Given the description of an element on the screen output the (x, y) to click on. 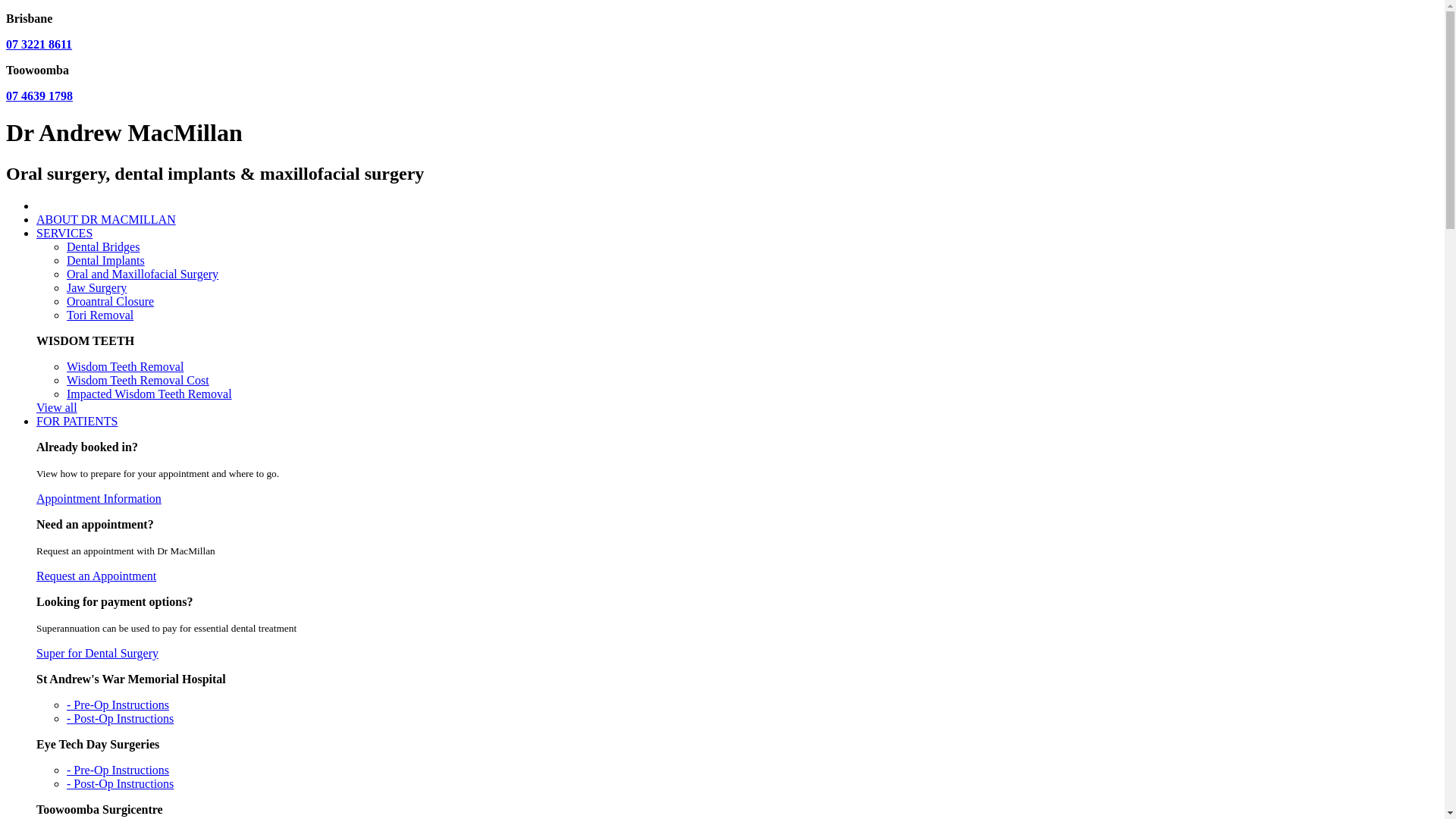
Oral and Maxillofacial Surgery Element type: text (142, 273)
Impacted Wisdom Teeth Removal Element type: text (149, 393)
Super for Dental Surgery Element type: text (97, 652)
FOR PATIENTS Element type: text (76, 420)
Dental Implants Element type: text (105, 260)
View all Element type: text (56, 407)
Dental Bridges Element type: text (102, 246)
ABOUT DR MACMILLAN Element type: text (105, 219)
Wisdom Teeth Removal Cost Element type: text (137, 379)
Tori Removal Element type: text (99, 314)
- Post-Op Instructions Element type: text (119, 718)
- Post-Op Instructions Element type: text (119, 783)
- Pre-Op Instructions Element type: text (117, 704)
Request an Appointment Element type: text (96, 575)
07 3221 8611 Element type: text (39, 43)
07 4639 1798 Element type: text (39, 95)
Wisdom Teeth Removal Element type: text (124, 366)
- Pre-Op Instructions Element type: text (117, 769)
Oroantral Closure Element type: text (109, 300)
Jaw Surgery Element type: text (96, 287)
Appointment Information Element type: text (98, 498)
SERVICES Element type: text (64, 232)
